Given the description of an element on the screen output the (x, y) to click on. 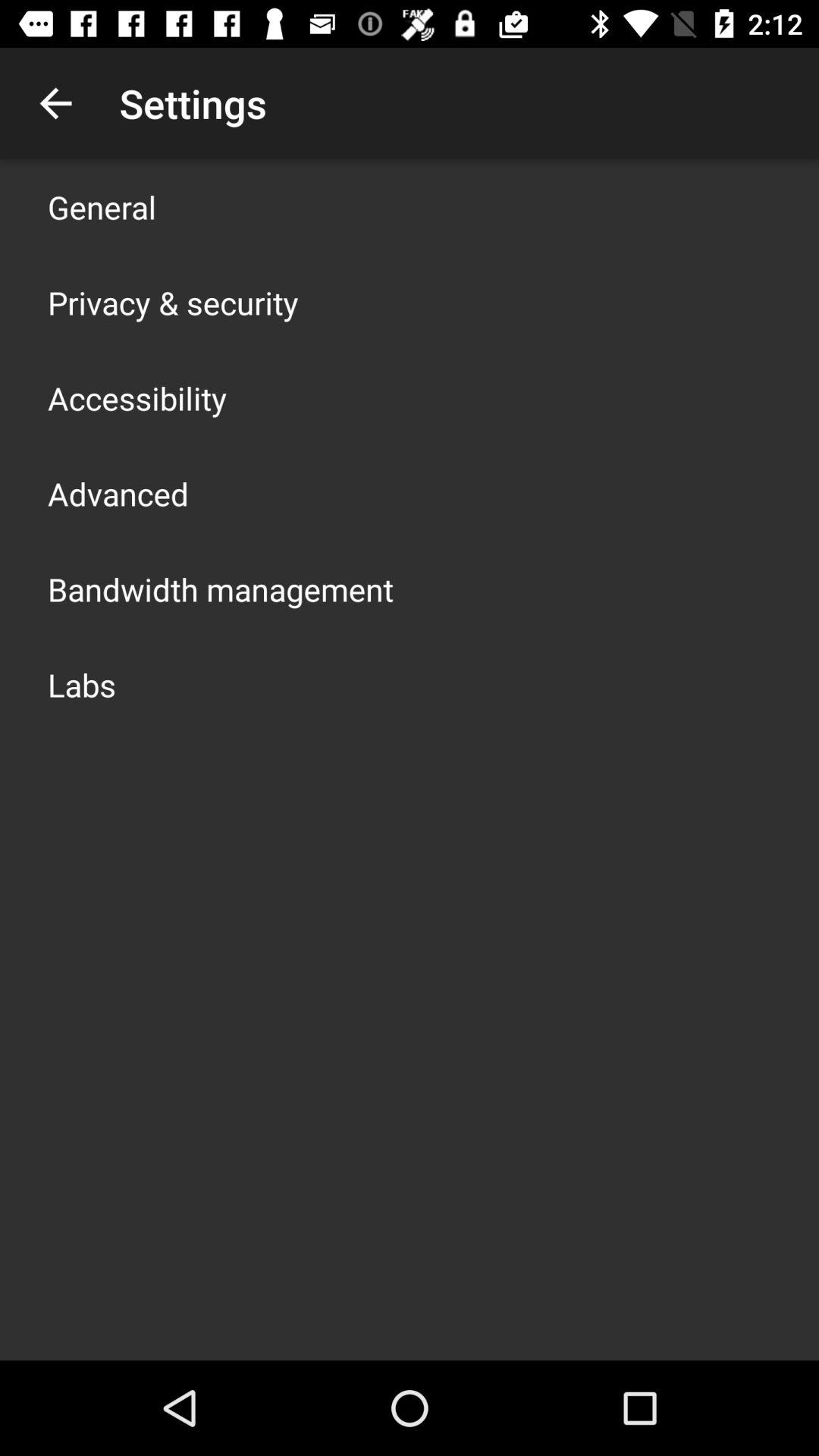
tap labs app (81, 684)
